Given the description of an element on the screen output the (x, y) to click on. 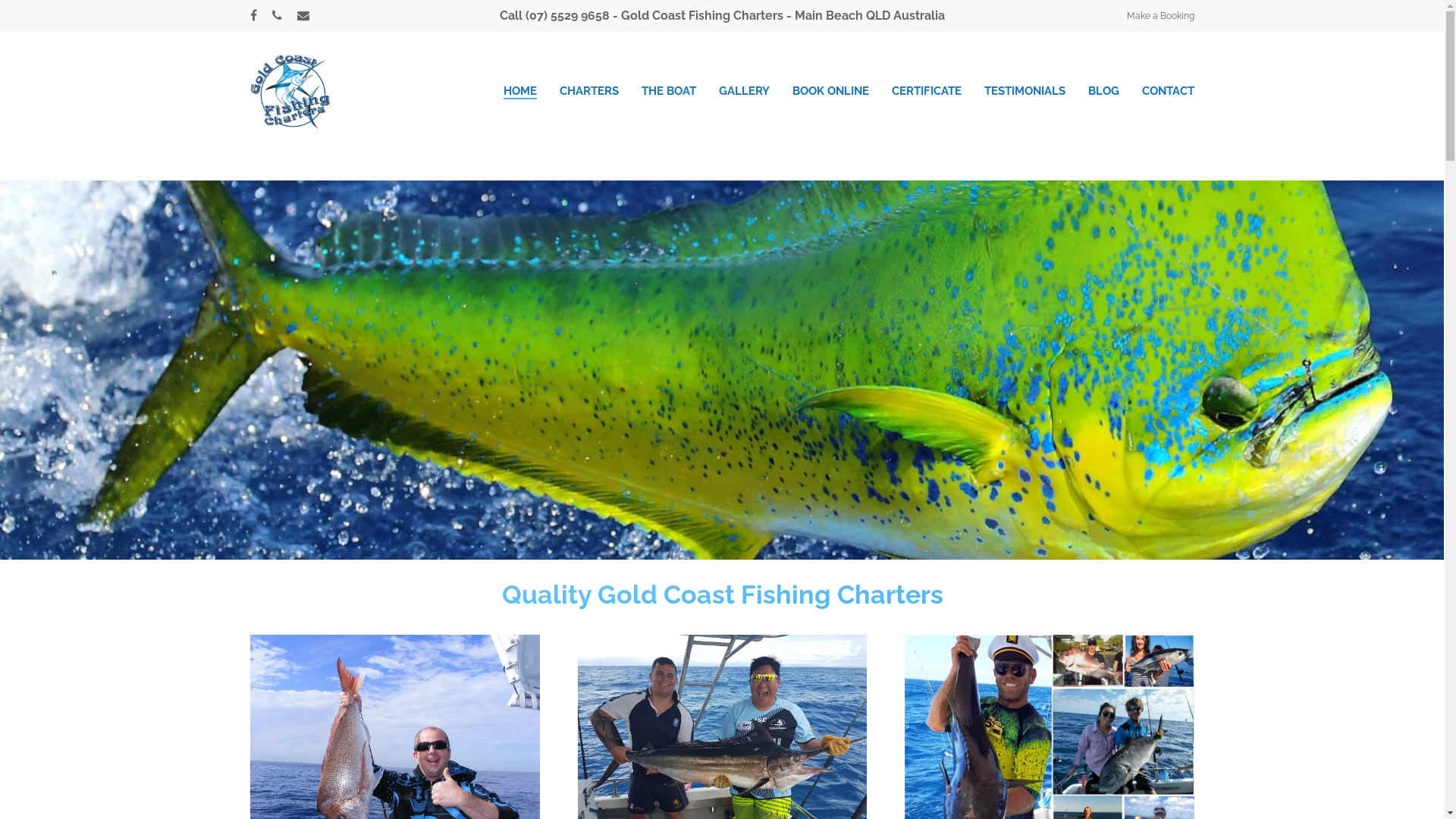
CERTIFICATE Element type: text (926, 90)
BOOK ONLINE Element type: text (830, 90)
Make a Booking Element type: text (1160, 15)
CONTACT Element type: text (1168, 90)
GALLERY Element type: text (743, 90)
CHARTERS Element type: text (588, 90)
HOME Element type: text (519, 90)
THE BOAT Element type: text (668, 90)
BLOG Element type: text (1103, 90)
TESTIMONIALS Element type: text (1024, 90)
